Given the description of an element on the screen output the (x, y) to click on. 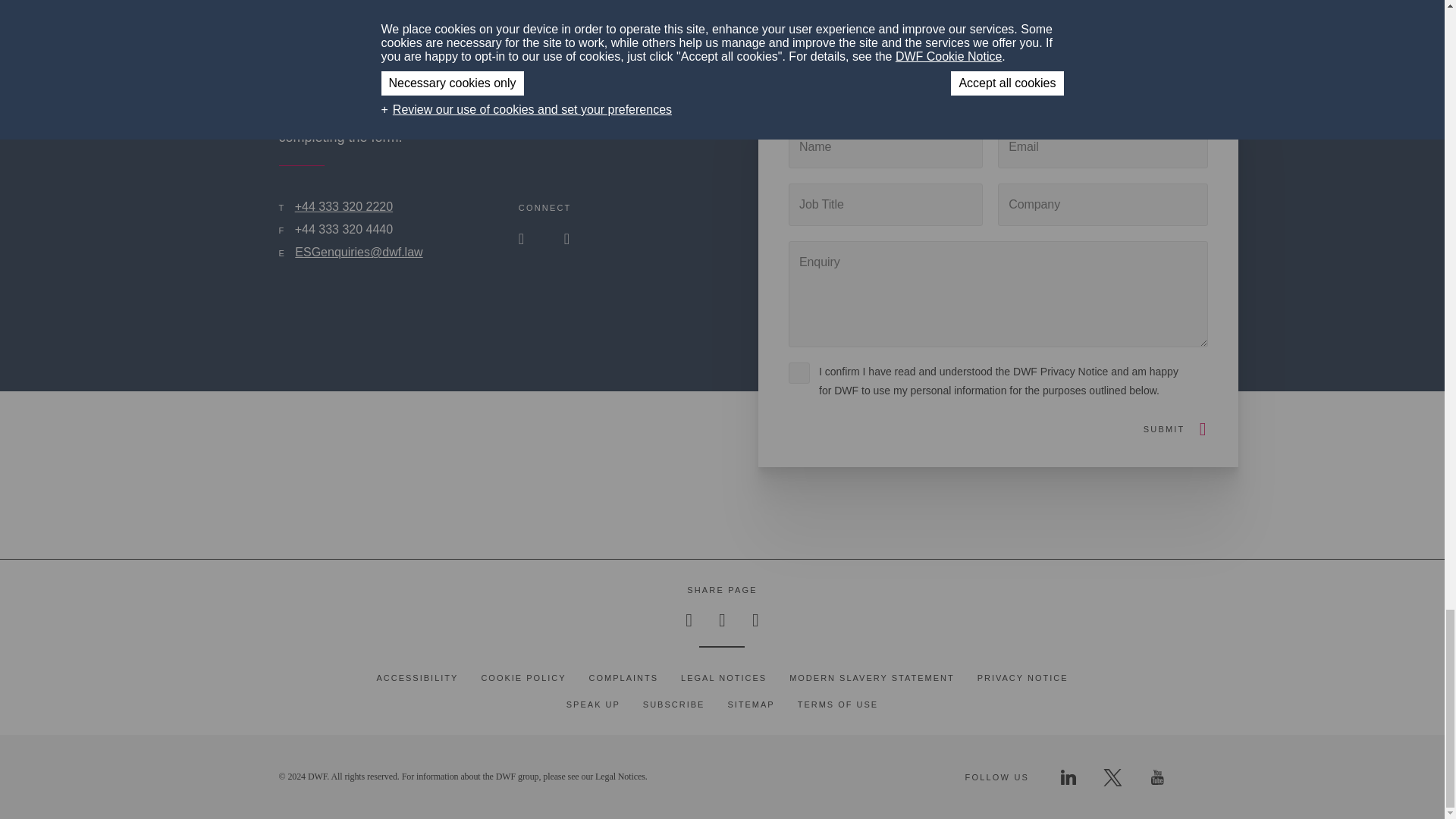
Submit (1163, 428)
